Given the description of an element on the screen output the (x, y) to click on. 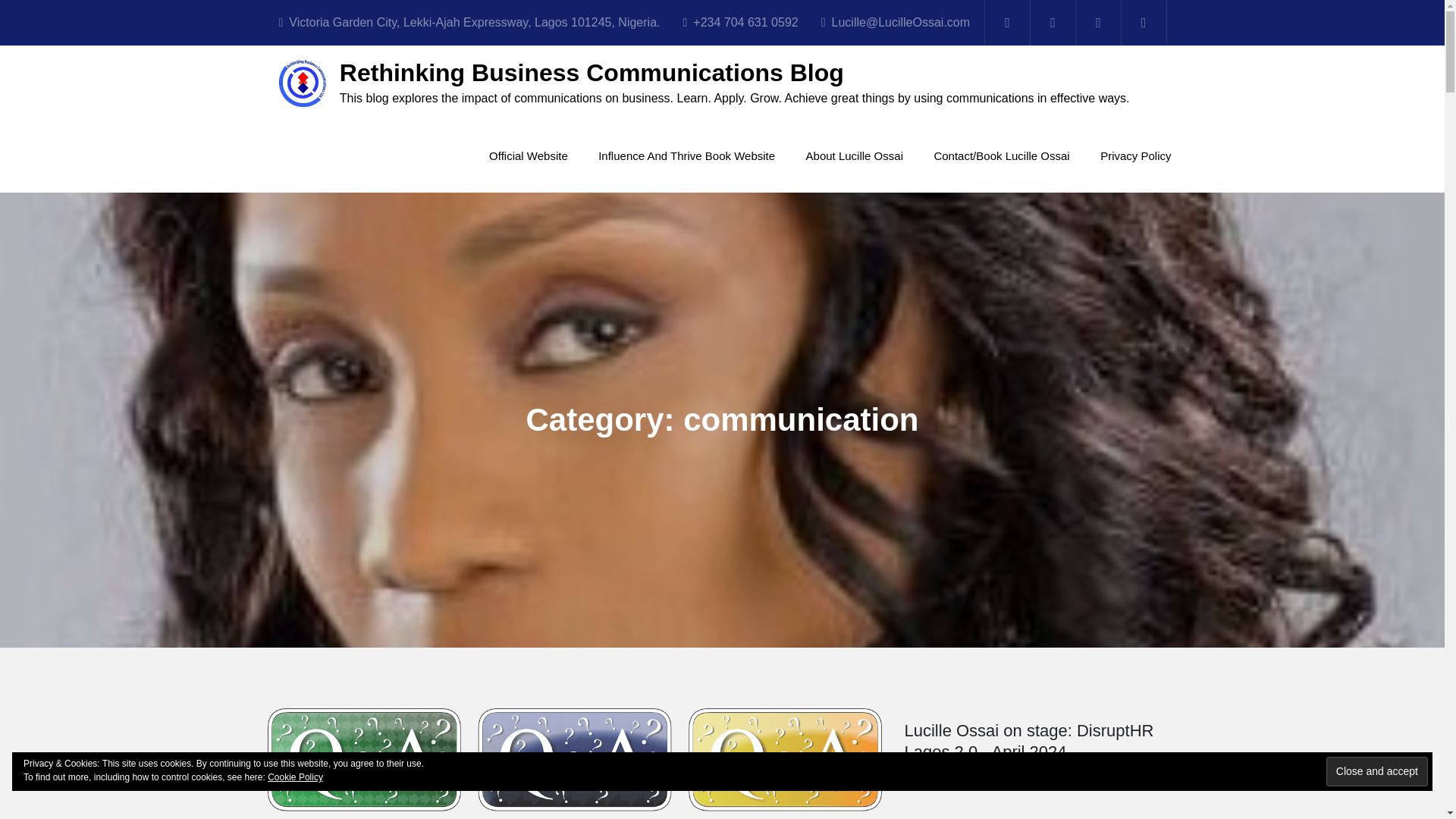
Influence And Thrive Book Website (687, 155)
Official Website (528, 155)
Close and accept (1377, 771)
Rethinking Business Communications Blog (591, 72)
About Lucille Ossai (854, 155)
Privacy Policy (1135, 155)
